Given the description of an element on the screen output the (x, y) to click on. 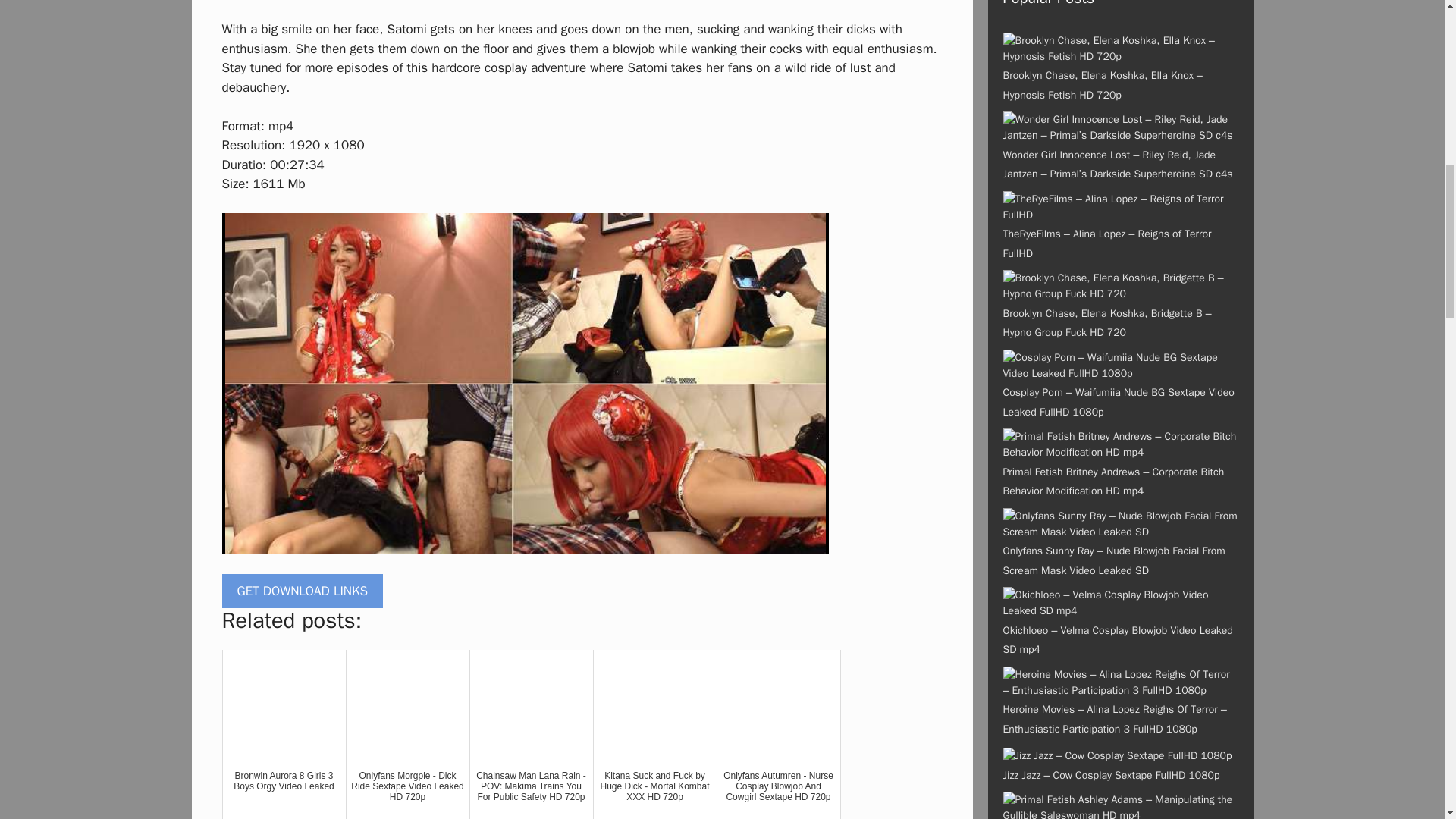
Onlyfans Morgpie - Dick Ride Sextape Video Leaked HD 720p (408, 734)
GET DOWNLOAD LINKS (301, 591)
Bronwin Aurora 8 Girls 3 Boys Orgy Video Leaked (283, 734)
show download links (301, 591)
